Given the description of an element on the screen output the (x, y) to click on. 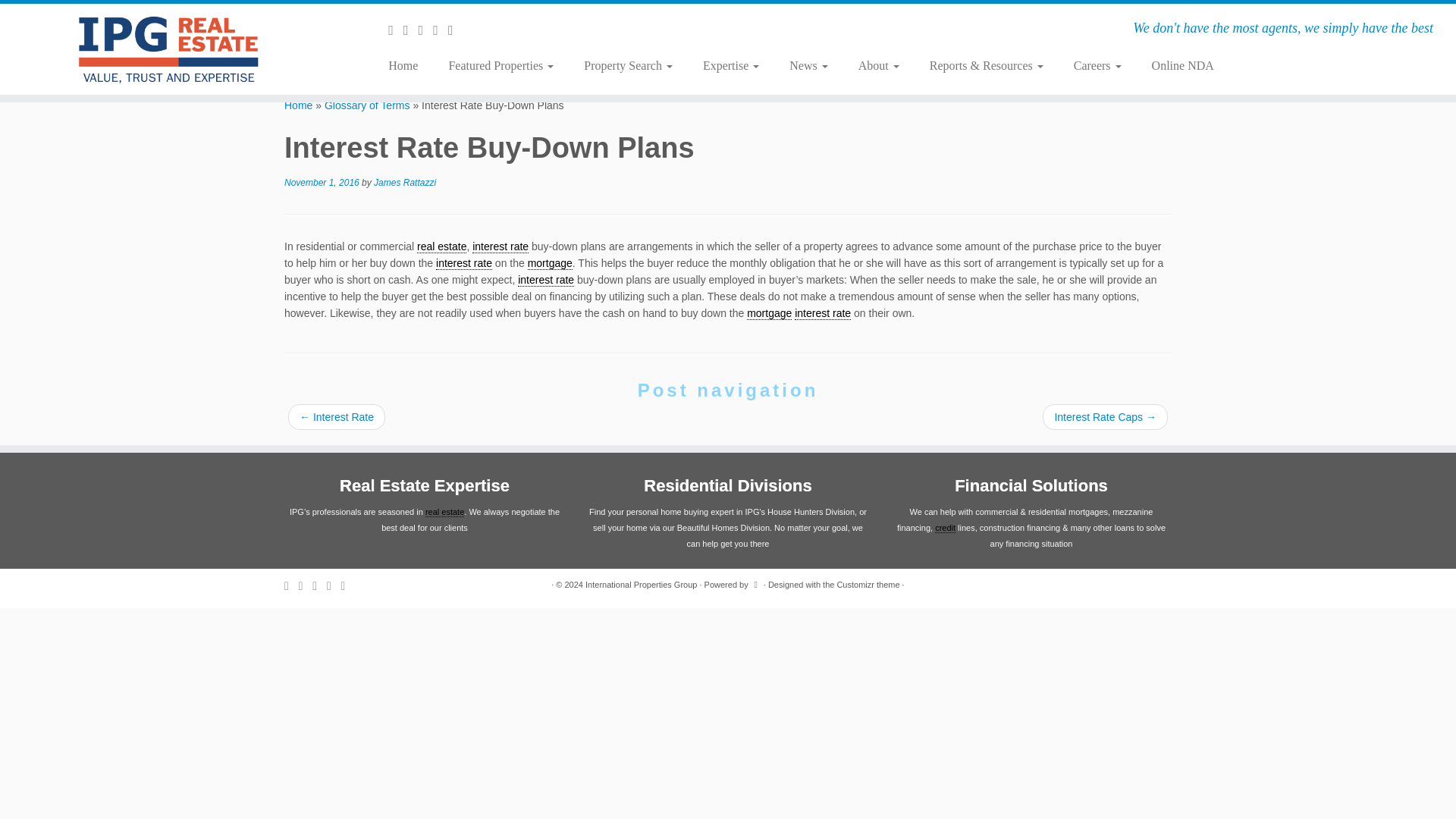
Home (408, 65)
Property Search (628, 65)
About (878, 65)
Follow me on LinkedIn (455, 29)
8:44 am (321, 182)
News (808, 65)
View all posts by James Rattazzi (404, 182)
Follow me on Twitter (411, 29)
Follow me on Instagram (440, 29)
Subscribe to my rss feed (395, 29)
